Given the description of an element on the screen output the (x, y) to click on. 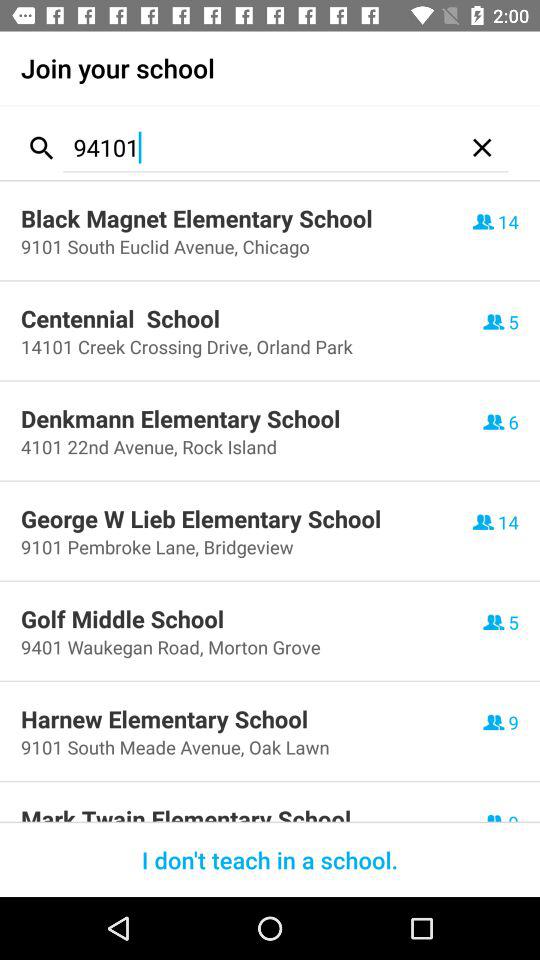
launch item next to 94101 icon (482, 147)
